Given the description of an element on the screen output the (x, y) to click on. 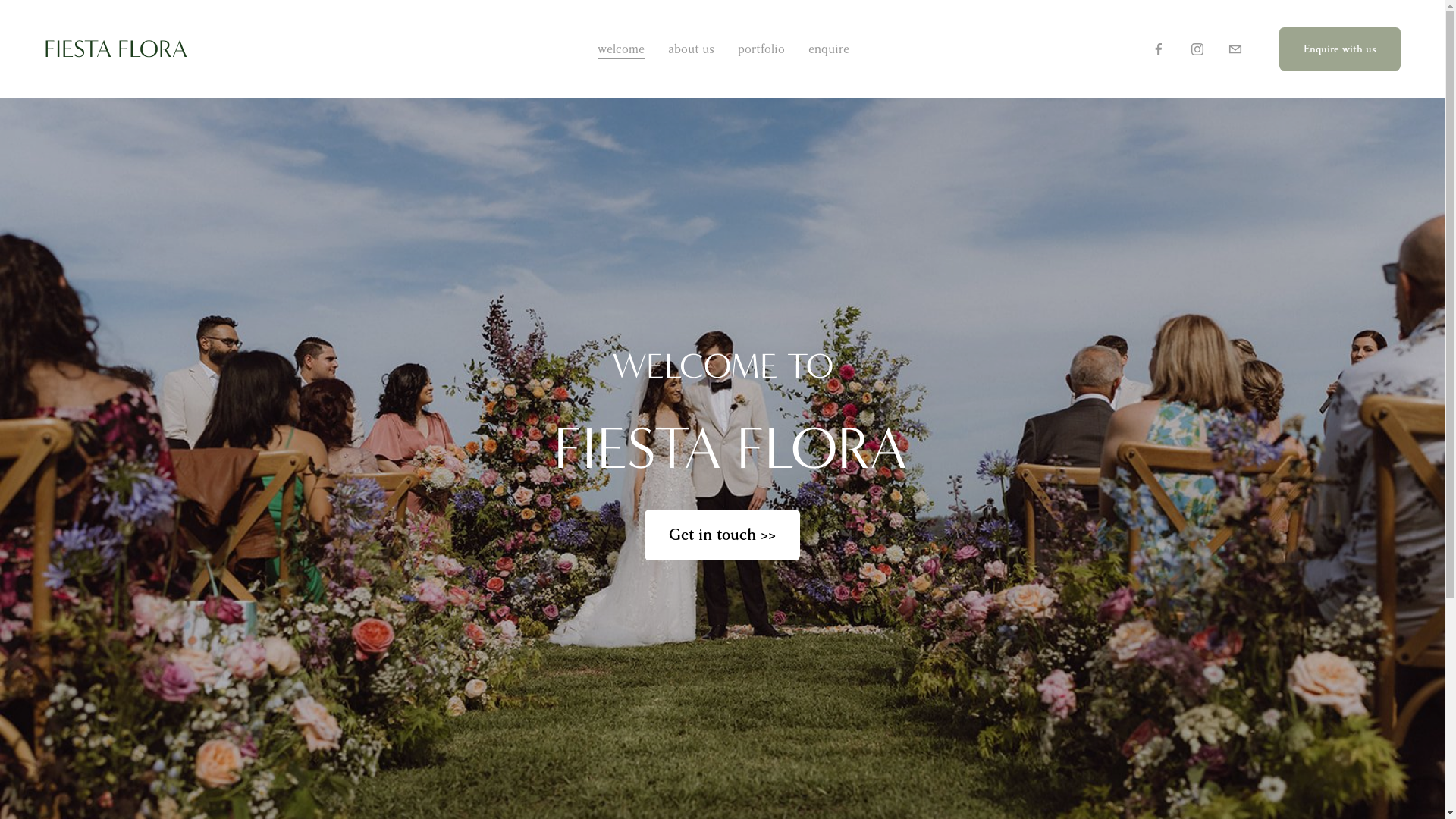
enquire Element type: text (828, 49)
Enquire with us Element type: text (1339, 48)
portfolio Element type: text (760, 49)
welcome Element type: text (620, 49)
about us Element type: text (691, 49)
Get in touch >> Element type: text (722, 534)
FIESTA FLORA Element type: text (115, 48)
